Given the description of an element on the screen output the (x, y) to click on. 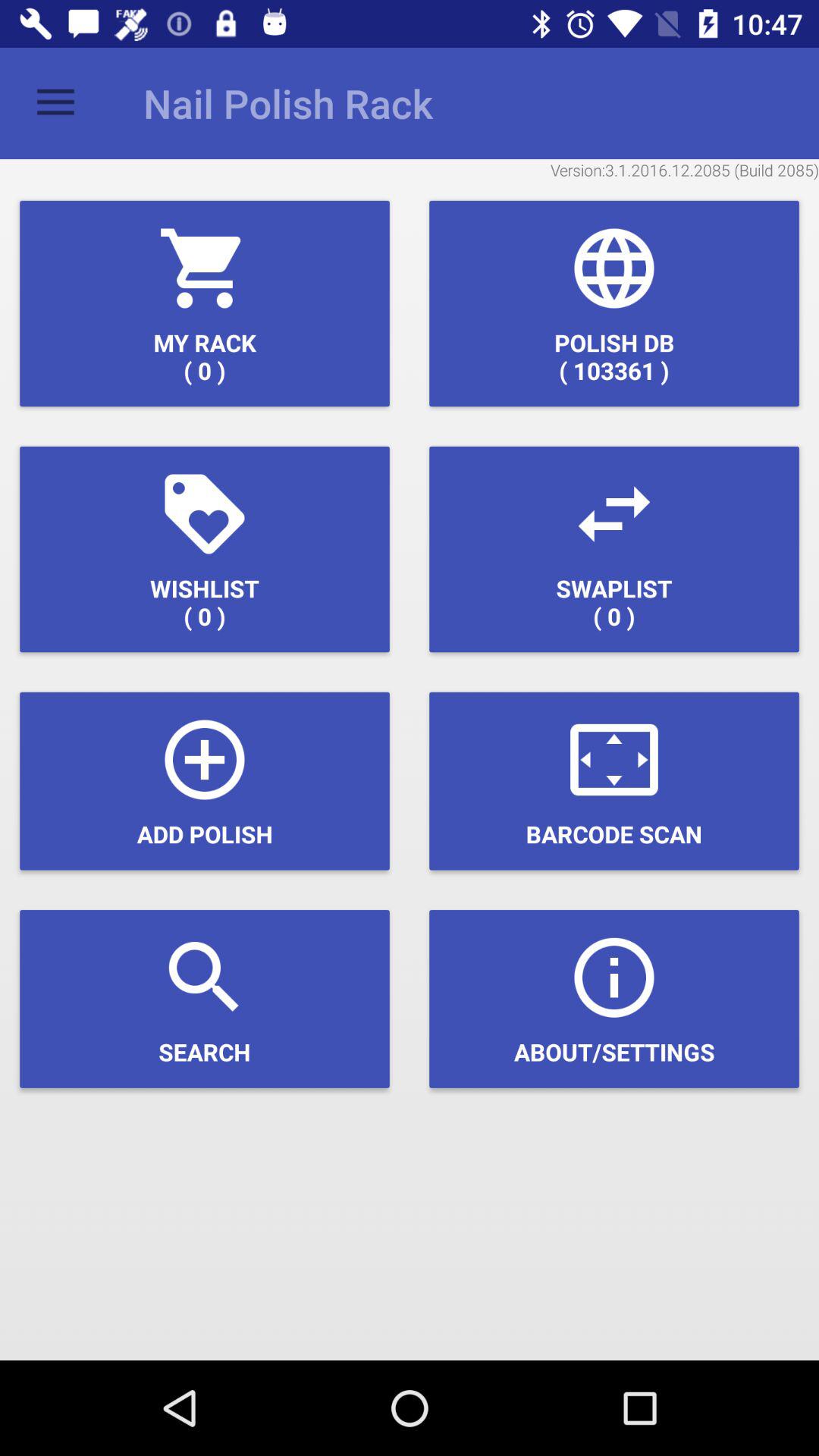
choose my rack
( 0 ) icon (204, 303)
